Given the description of an element on the screen output the (x, y) to click on. 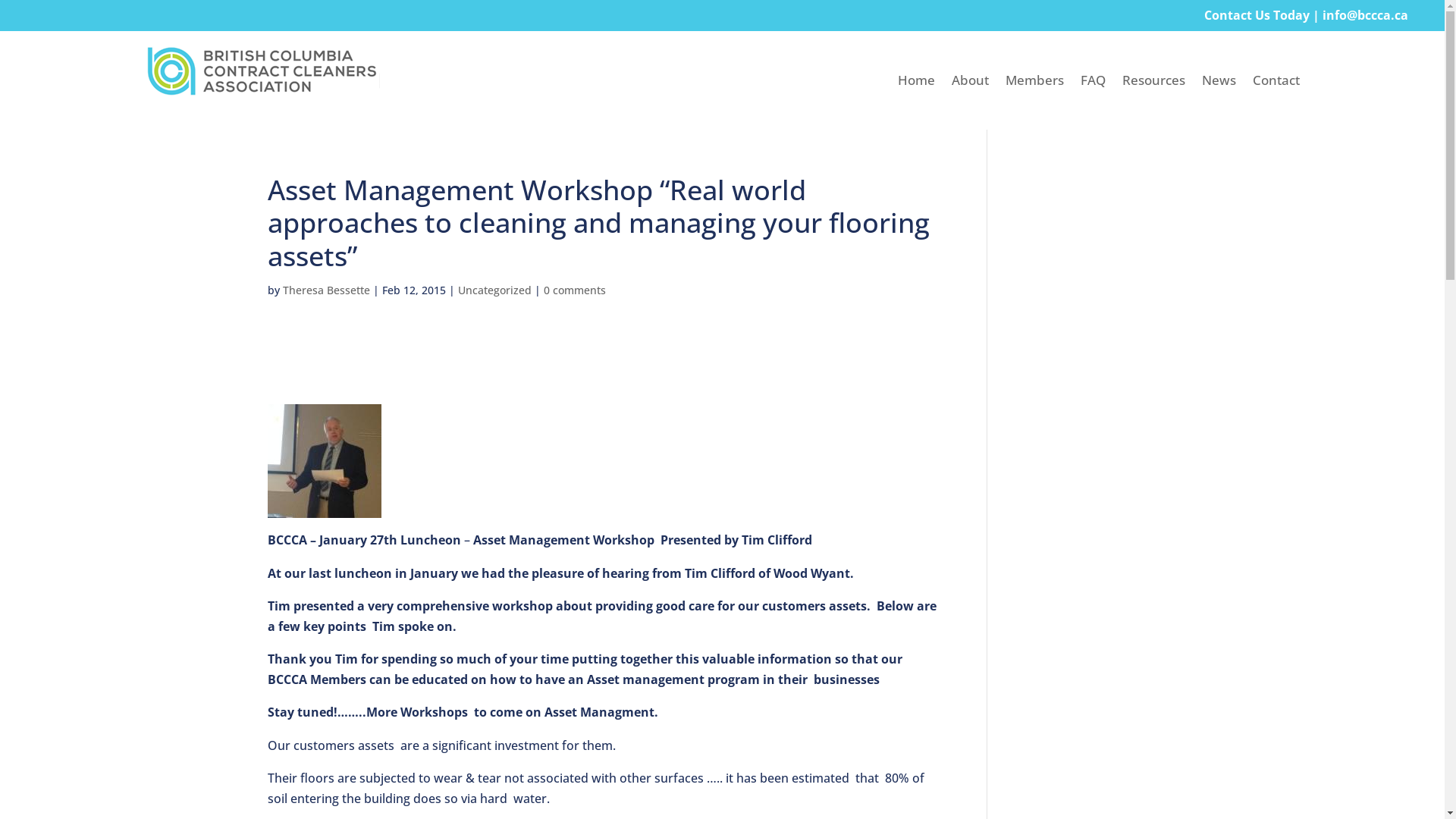
Resources Element type: text (1153, 83)
Uncategorized Element type: text (494, 289)
News Element type: text (1218, 83)
About Element type: text (969, 83)
Home Element type: text (916, 83)
FAQ Element type: text (1092, 83)
Theresa Bessette Element type: text (325, 289)
info@bccca.ca Element type: text (1365, 14)
Contact Element type: text (1275, 83)
2017_BCCCA_Logo_310x73 Element type: hover (261, 69)
Members Element type: text (1034, 83)
0 comments Element type: text (573, 289)
